Given the description of an element on the screen output the (x, y) to click on. 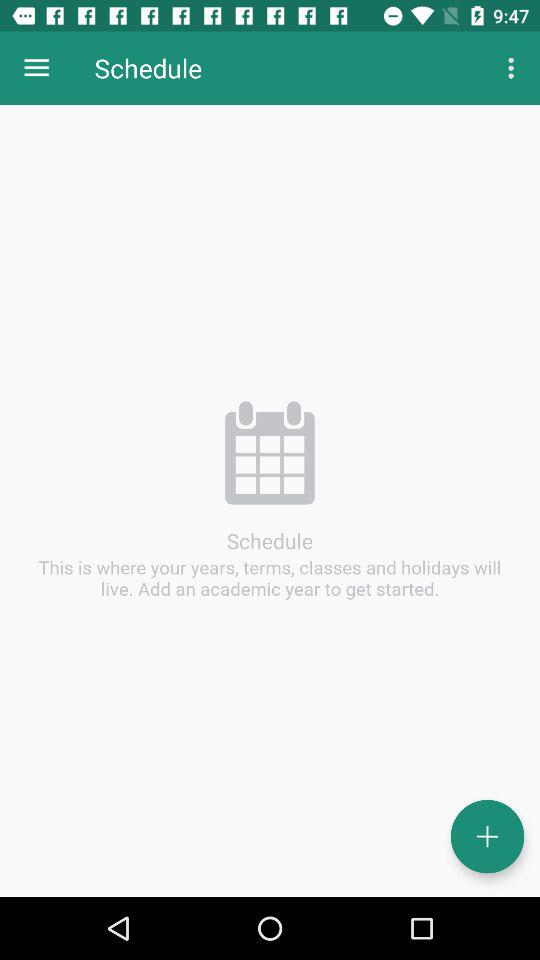
add year (487, 836)
